Given the description of an element on the screen output the (x, y) to click on. 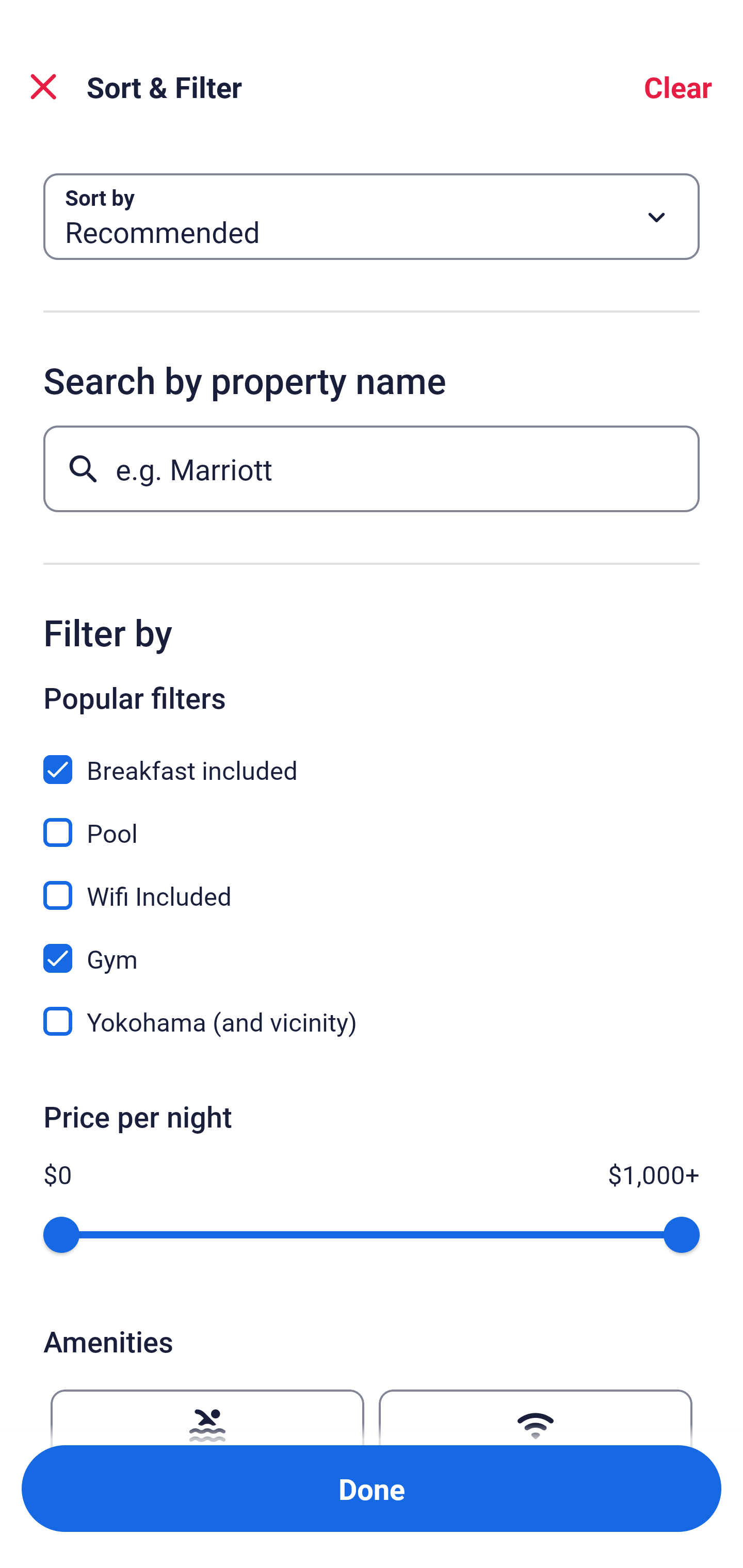
Close Sort and Filter (43, 86)
Clear (677, 86)
Sort by Button Recommended (371, 217)
e.g. Marriott Button (371, 468)
Breakfast included, Breakfast included (371, 757)
Pool, Pool (371, 821)
Wifi Included, Wifi Included (371, 883)
Gym, Gym (371, 946)
Yokohama (and vicinity), Yokohama (and vicinity) (371, 1021)
Apply and close Sort and Filter Done (371, 1488)
